Given the description of an element on the screen output the (x, y) to click on. 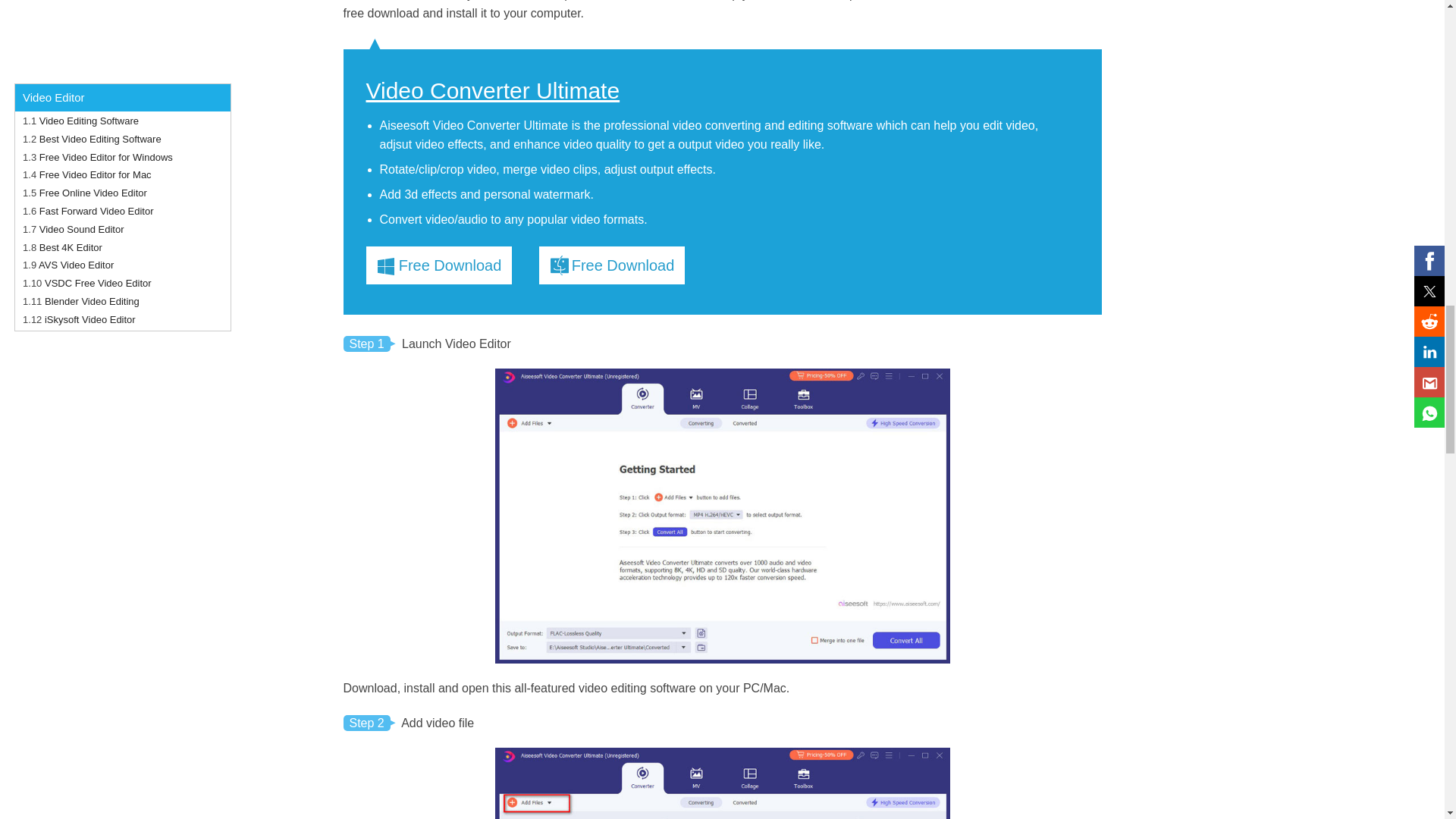
Video Converter Ultimate (492, 90)
Video Editor (665, 0)
Free Download (611, 265)
Free Download (438, 265)
